Given the description of an element on the screen output the (x, y) to click on. 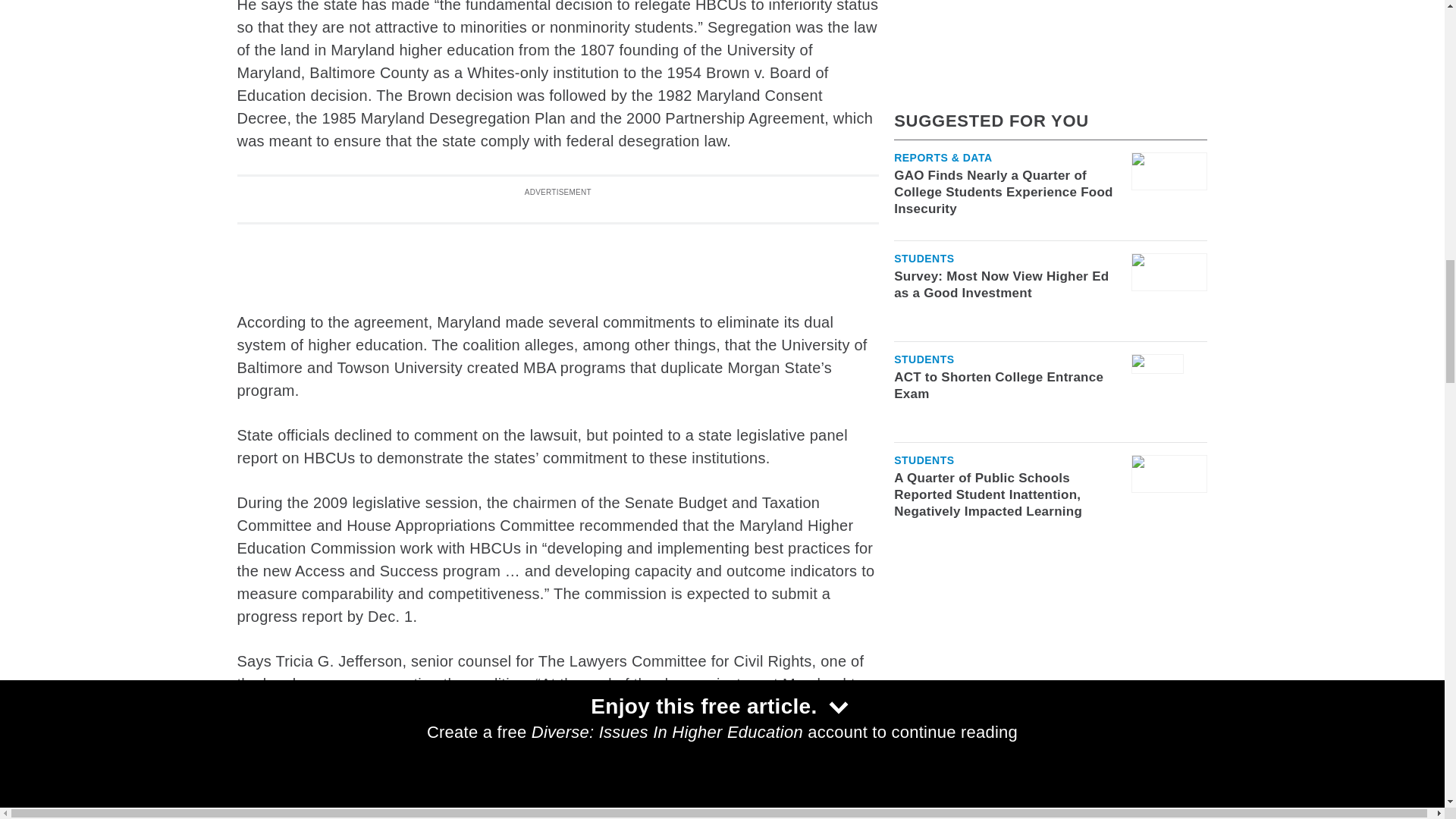
Students (397, 806)
